Given the description of an element on the screen output the (x, y) to click on. 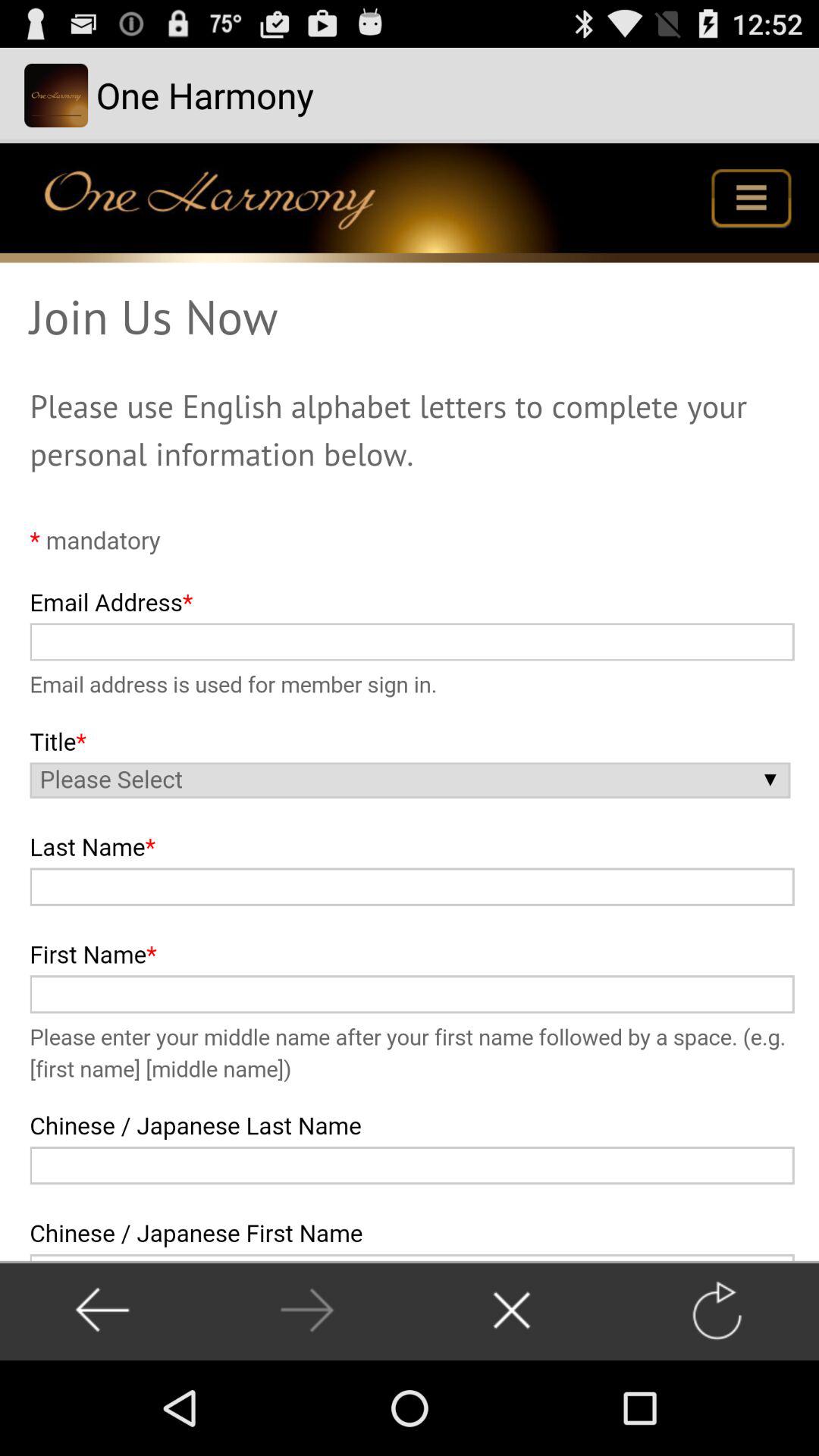
go back (102, 1310)
